Given the description of an element on the screen output the (x, y) to click on. 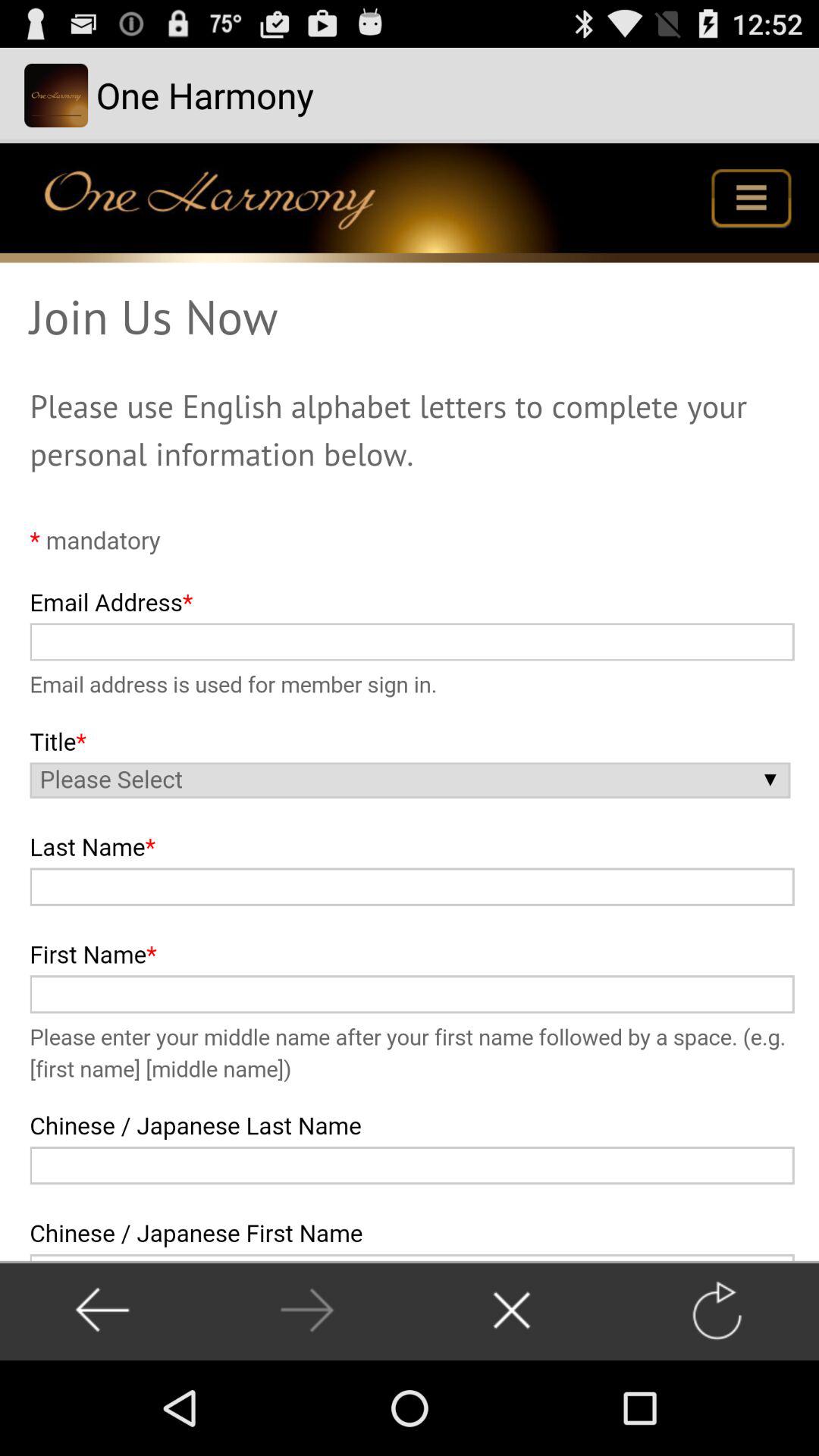
go back (102, 1310)
